Given the description of an element on the screen output the (x, y) to click on. 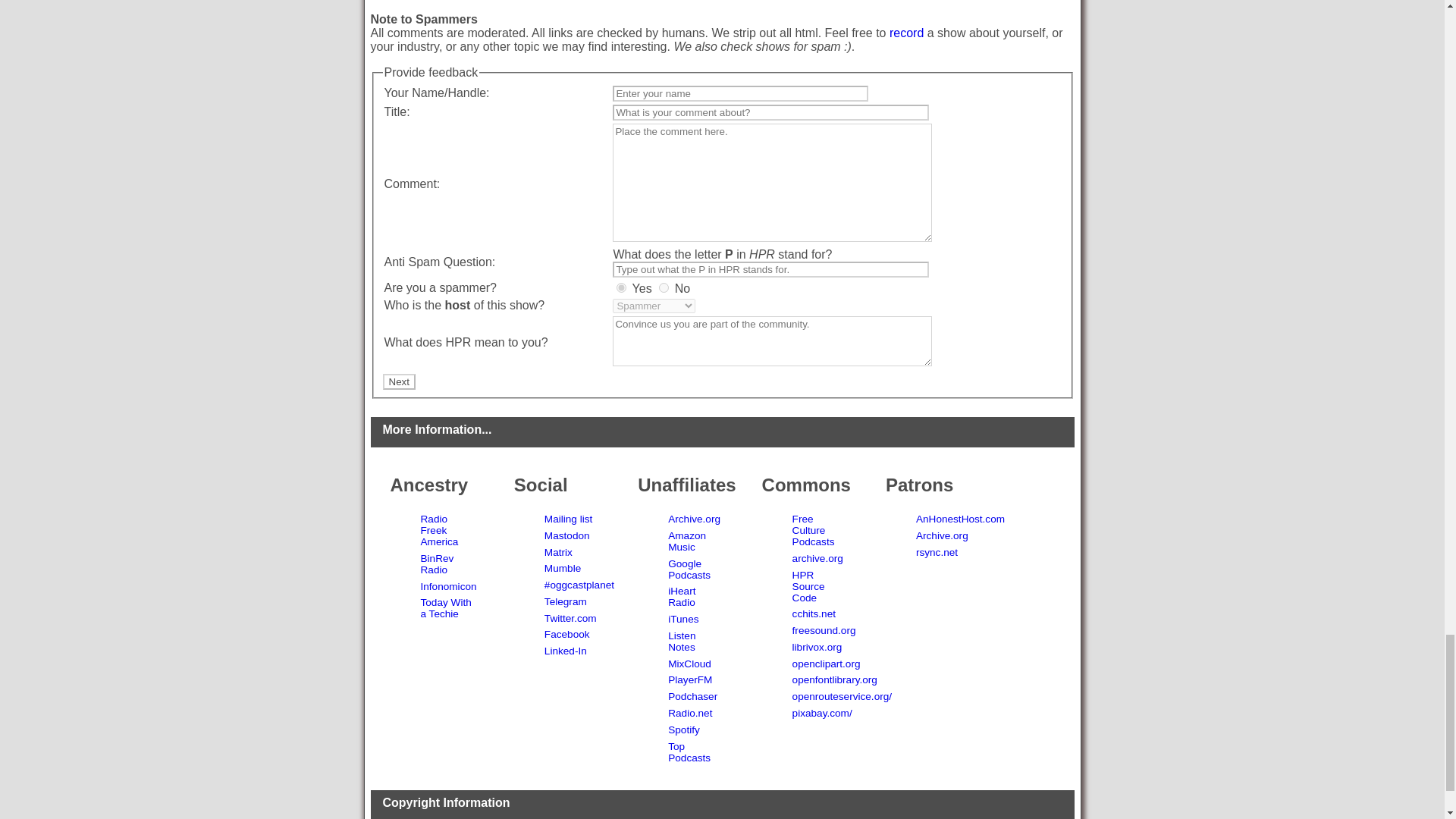
Yes (620, 287)
No (663, 287)
Next (397, 381)
